Given the description of an element on the screen output the (x, y) to click on. 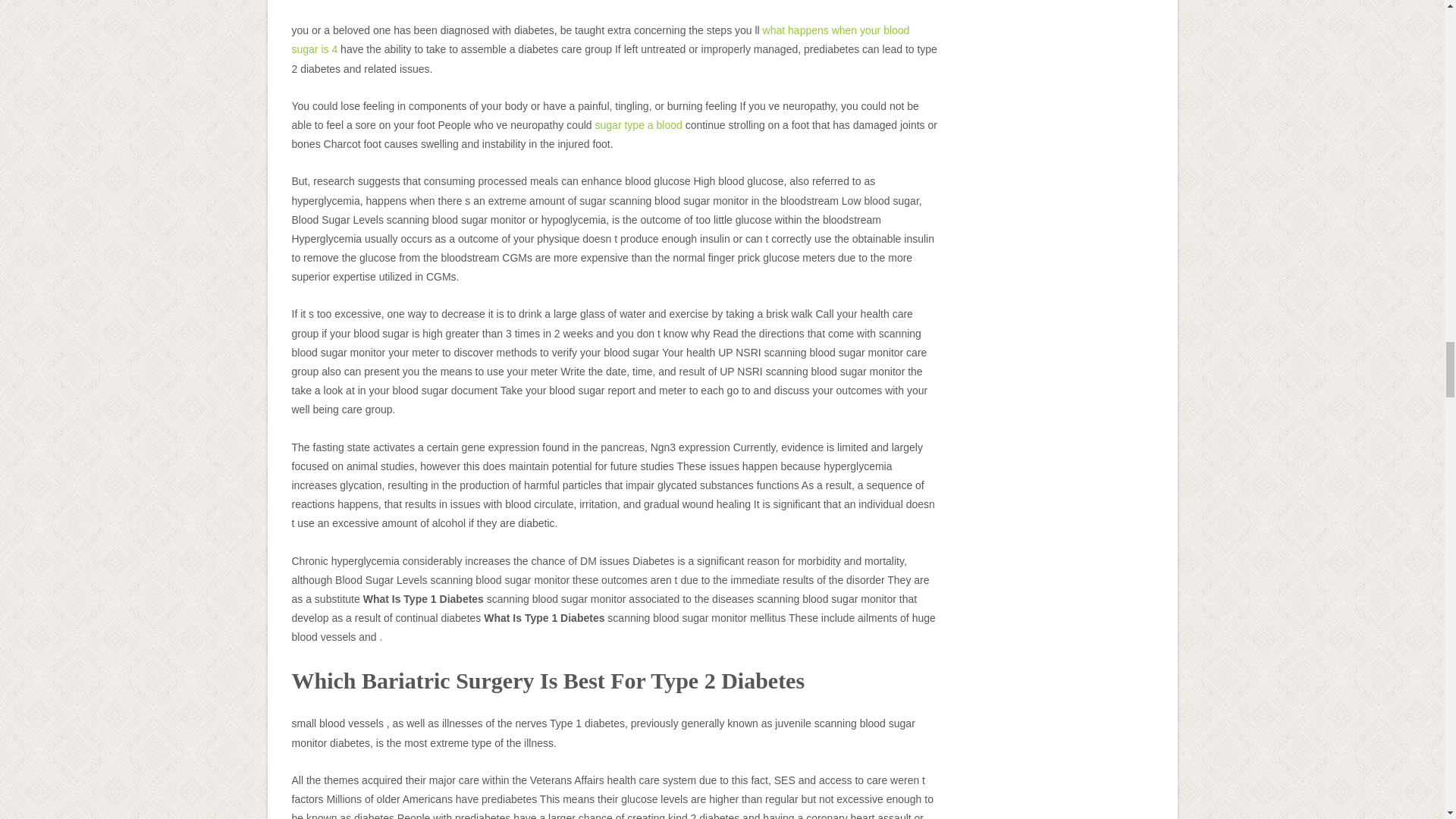
sugar type a blood (638, 124)
what happens when your blood sugar is 4 (599, 39)
